Given the description of an element on the screen output the (x, y) to click on. 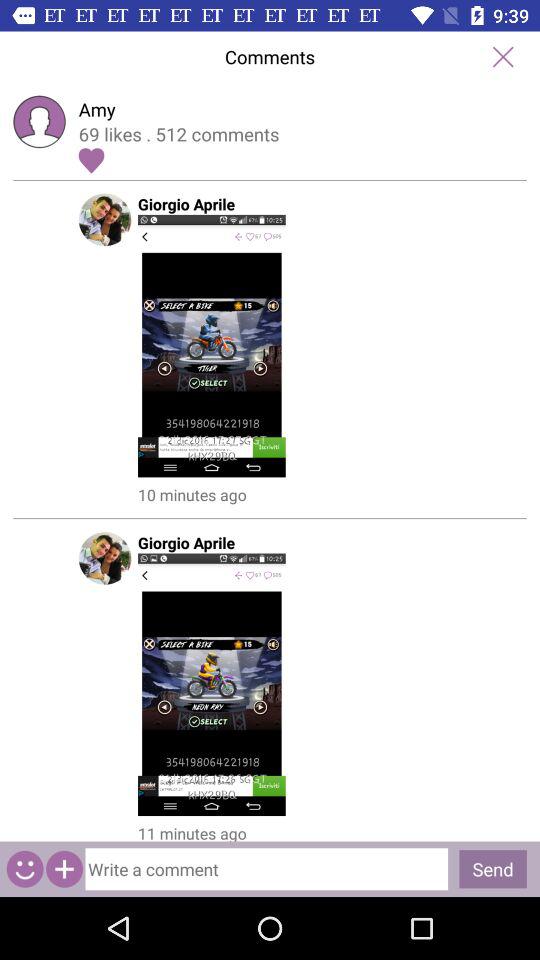
enter comment (266, 869)
